Given the description of an element on the screen output the (x, y) to click on. 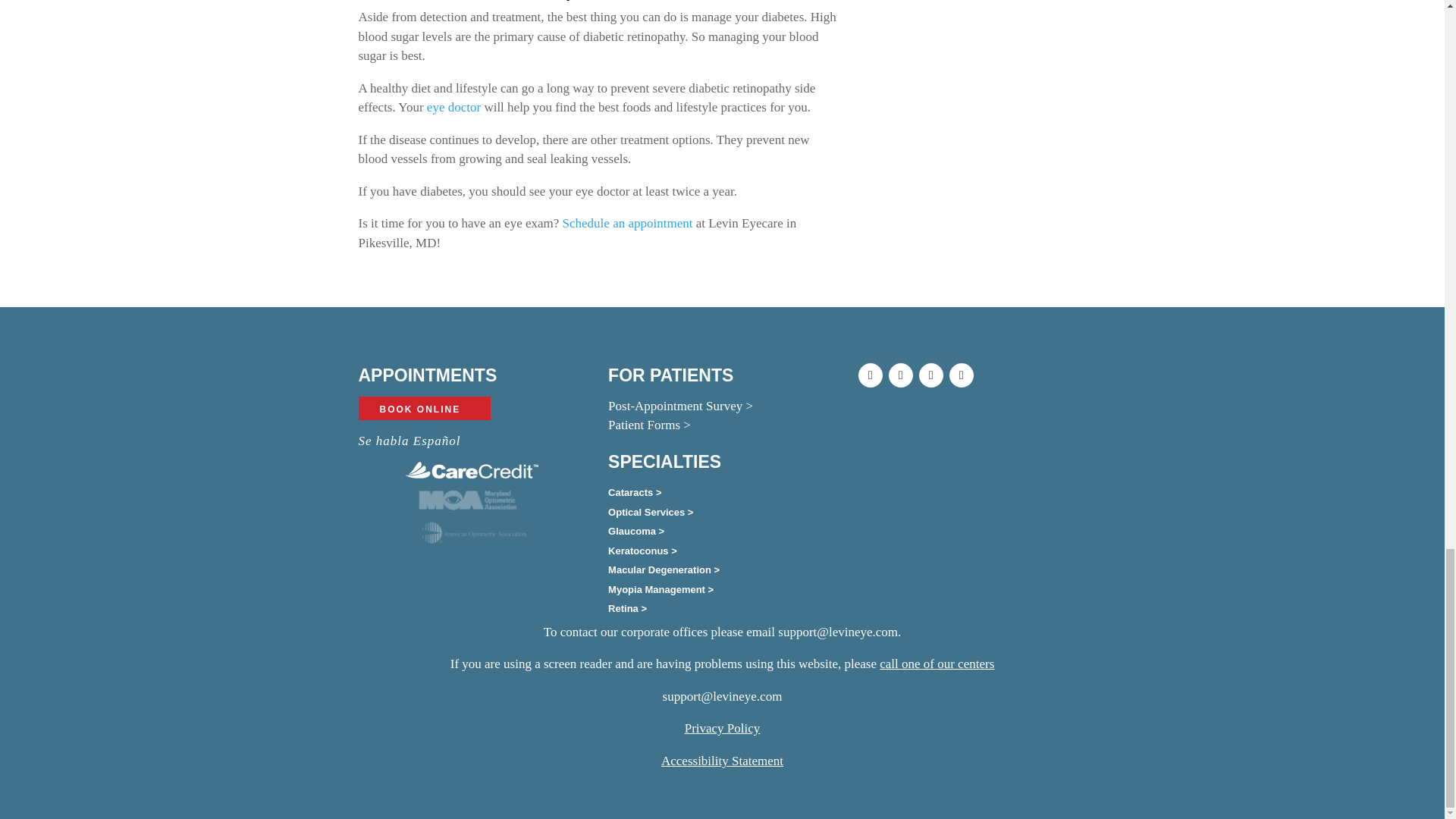
carecredit-logoaCareCredit Logo (472, 470)
Eye Doctors in Baltimore, MD (453, 106)
Book an Appointment here! (627, 223)
